Given the description of an element on the screen output the (x, y) to click on. 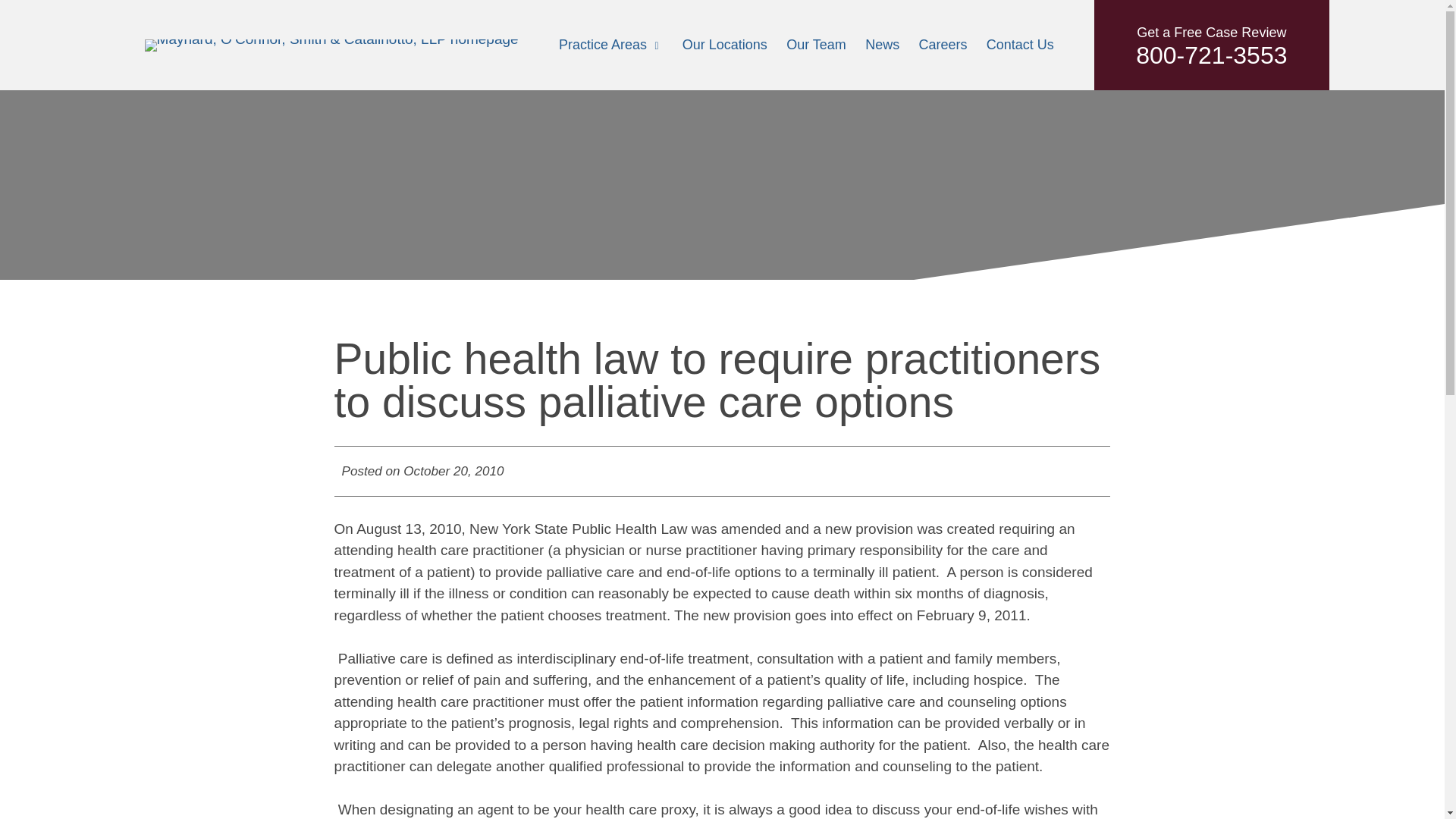
Careers (942, 44)
Our Team (815, 44)
Practice Areas (602, 44)
Contact Us (1210, 45)
Our Locations (1020, 44)
show submenu for "Practice Areas" (724, 44)
